Given the description of an element on the screen output the (x, y) to click on. 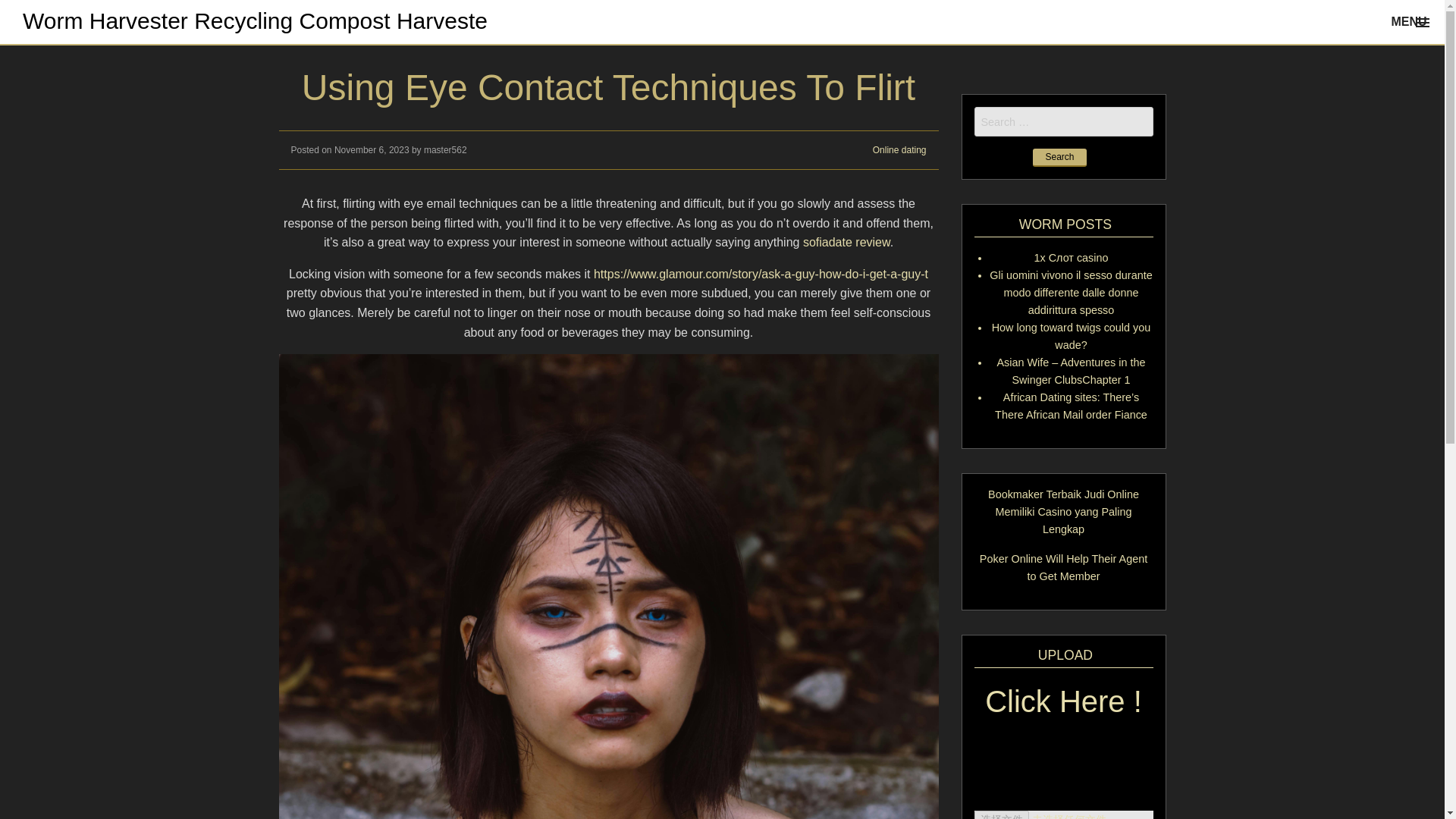
Poker Online Will Help Their Agent to Get Member (1063, 567)
Search (1059, 157)
Search (1059, 157)
Worm Harvester Recycling Compost Harveste (255, 20)
Click Here ! (1063, 711)
How long toward twigs could you wade? (1071, 336)
Search (1059, 157)
Online dating (899, 149)
sofiadate review (846, 241)
